Given the description of an element on the screen output the (x, y) to click on. 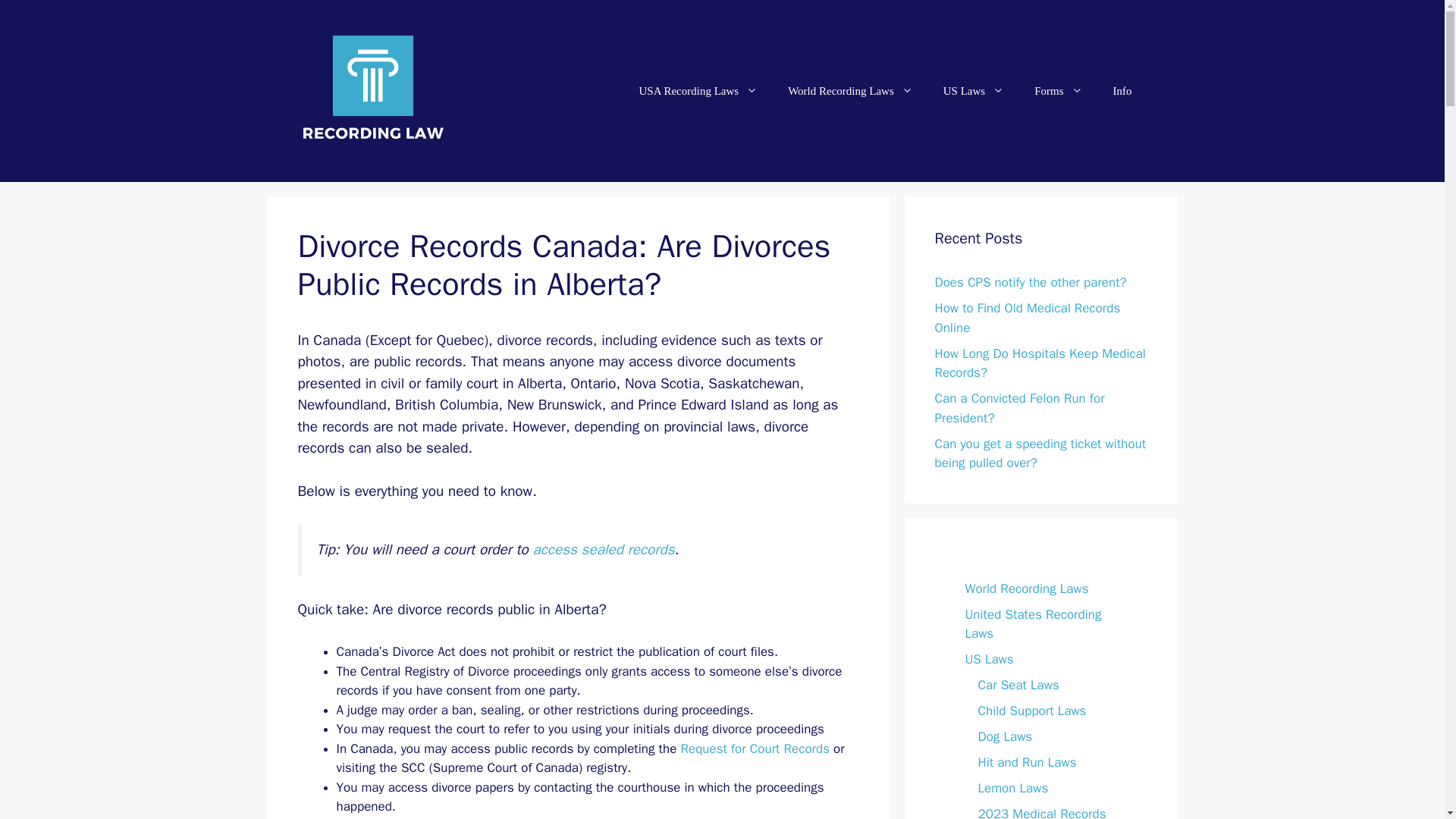
US Laws (973, 90)
World Recording Laws (850, 90)
USA Recording Laws (698, 90)
